Given the description of an element on the screen output the (x, y) to click on. 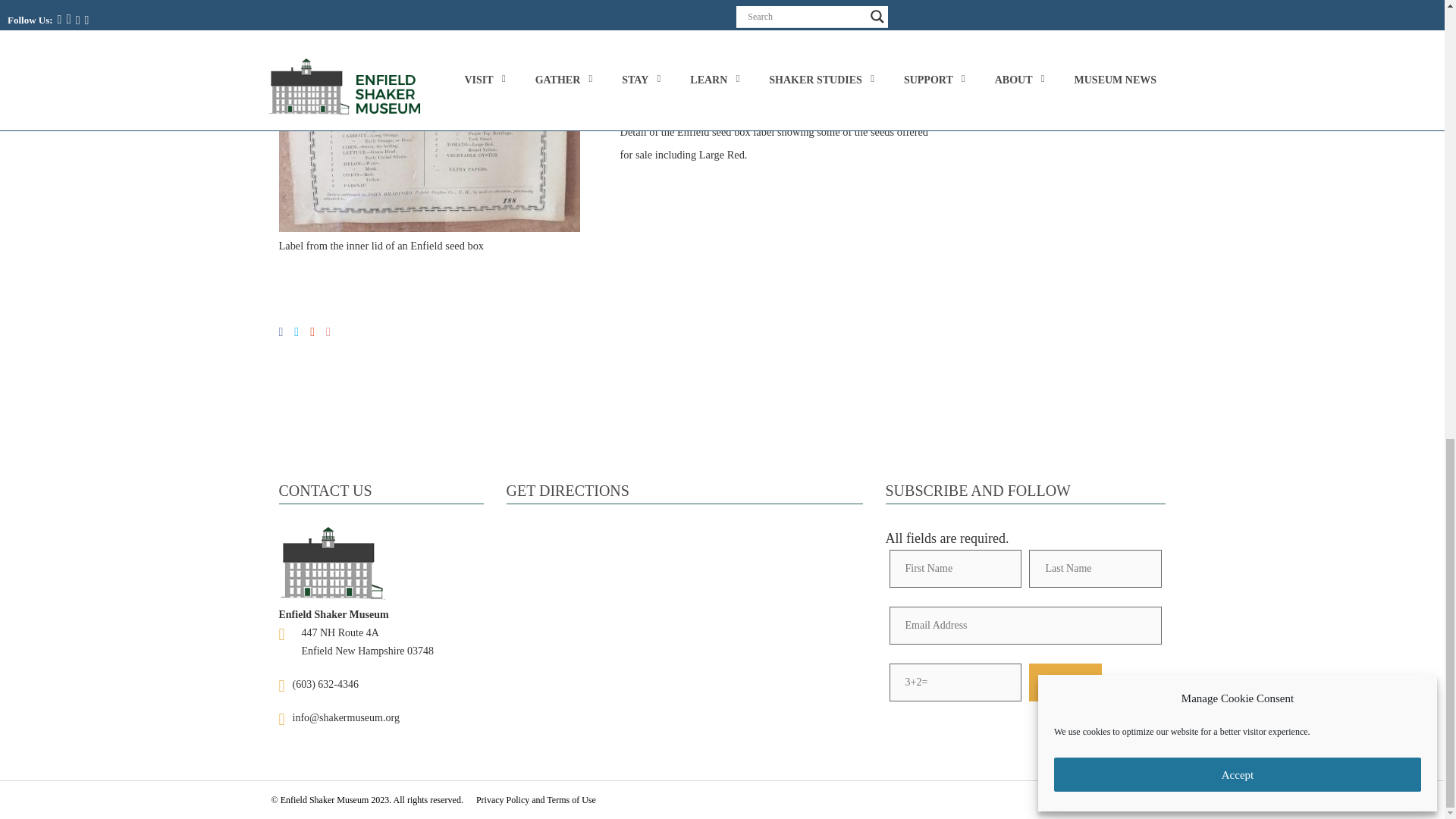
Enfield seed box label (429, 115)
Enfield seed box large red tomato (692, 82)
Submit (1064, 682)
